Given the description of an element on the screen output the (x, y) to click on. 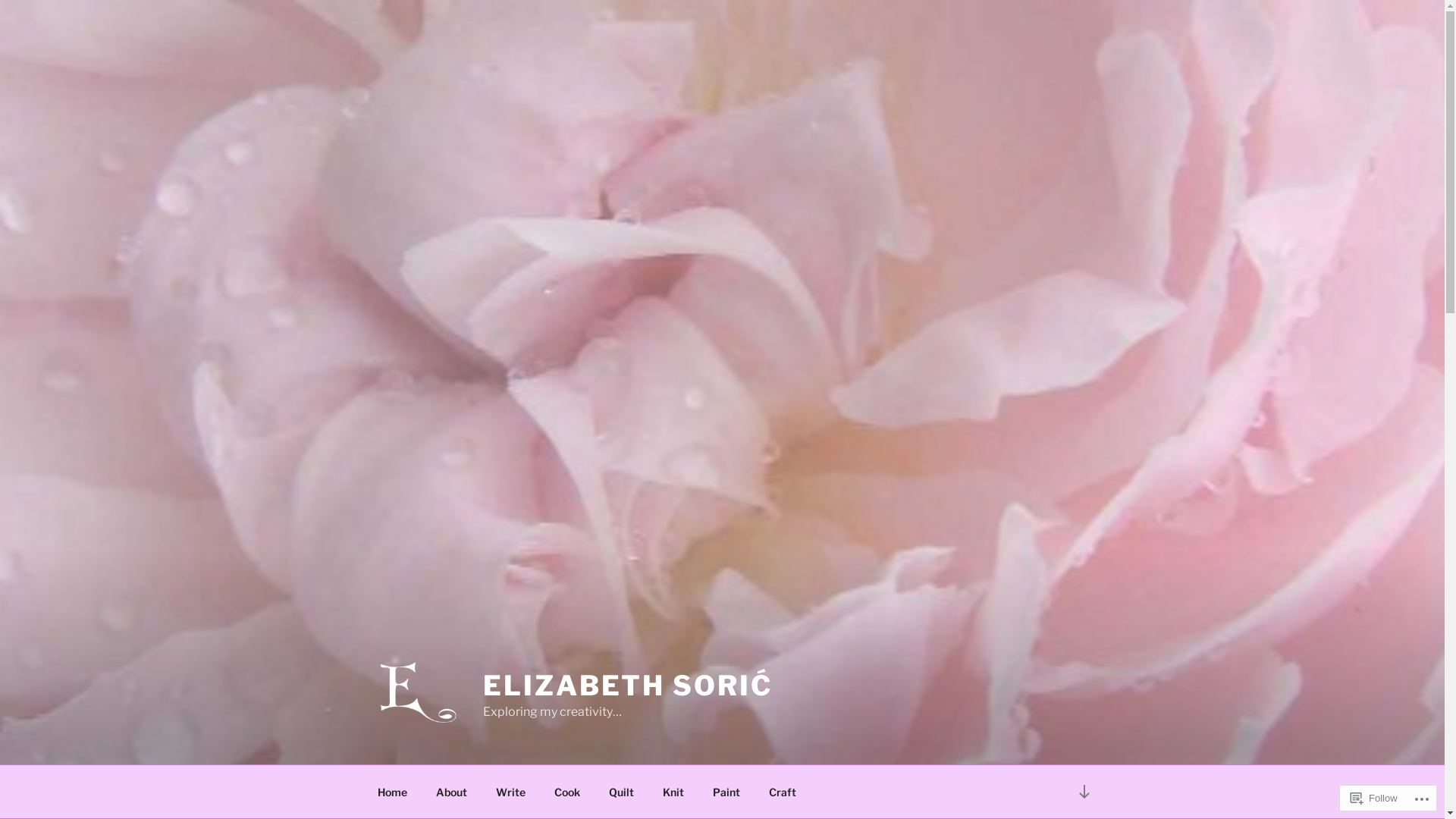
Home Element type: text (392, 791)
Craft Element type: text (782, 791)
Paint Element type: text (726, 791)
Quilt Element type: text (621, 791)
Write Element type: text (510, 791)
Cook Element type: text (567, 791)
About Element type: text (451, 791)
Knit Element type: text (672, 791)
Follow Element type: text (1373, 797)
